Given the description of an element on the screen output the (x, y) to click on. 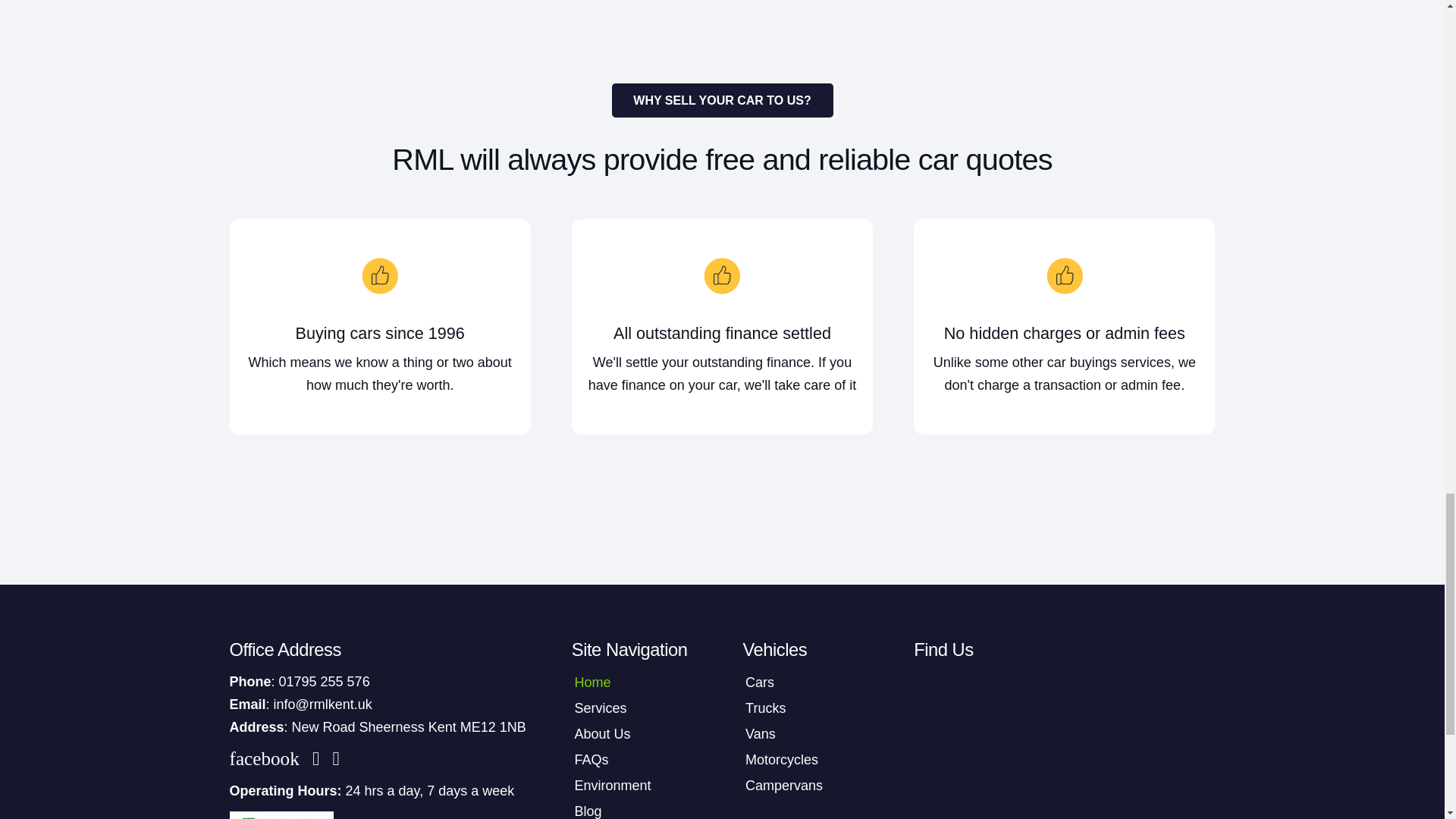
Motorcycles (807, 760)
Home (636, 682)
FAQs (636, 760)
Services (636, 708)
facebook (266, 758)
Cars (807, 682)
Environment (636, 785)
Trucks (807, 708)
About Us (636, 733)
Vans (807, 733)
